Given the description of an element on the screen output the (x, y) to click on. 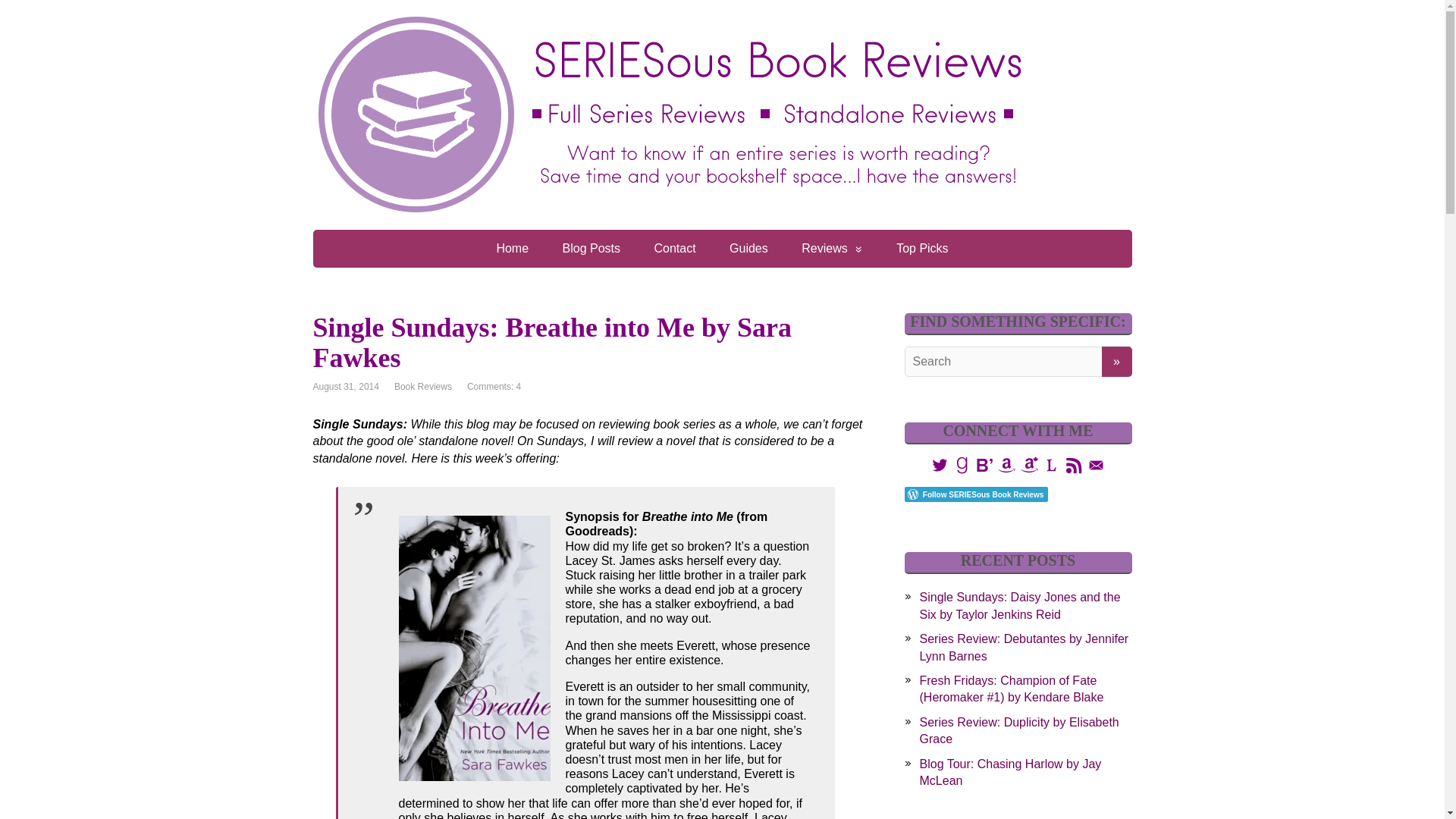
Reviews (831, 248)
Book Reviews (422, 386)
Comments: 4 (494, 386)
Guides (748, 248)
Contact (674, 248)
Twitter (939, 463)
Blog Posts (590, 248)
Home (511, 248)
Top Picks (921, 248)
